Given the description of an element on the screen output the (x, y) to click on. 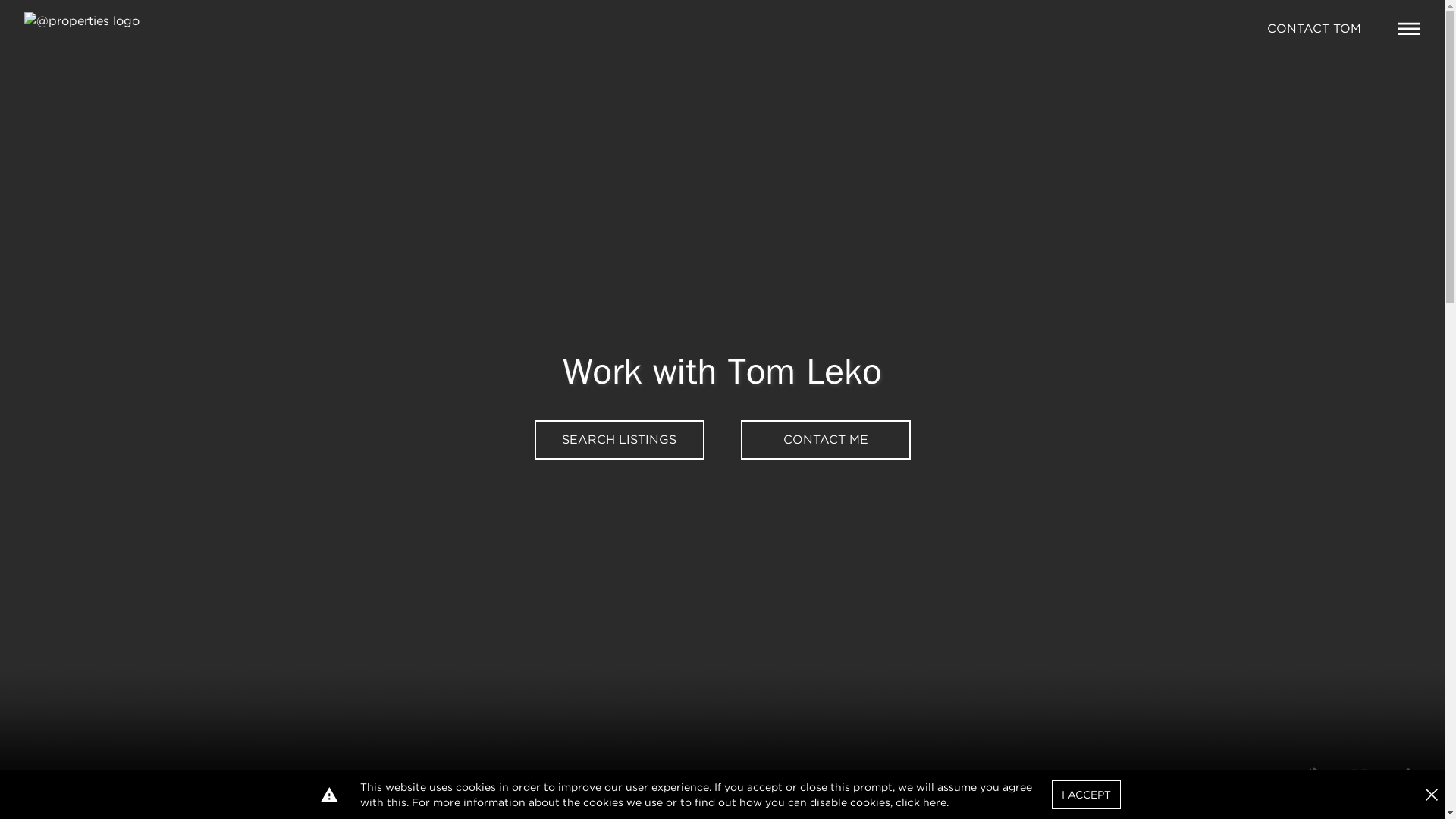
here (934, 802)
Close (1431, 794)
CONTACT ME (824, 439)
I ACCEPT (1086, 794)
SEARCH LISTINGS (618, 439)
